Given the description of an element on the screen output the (x, y) to click on. 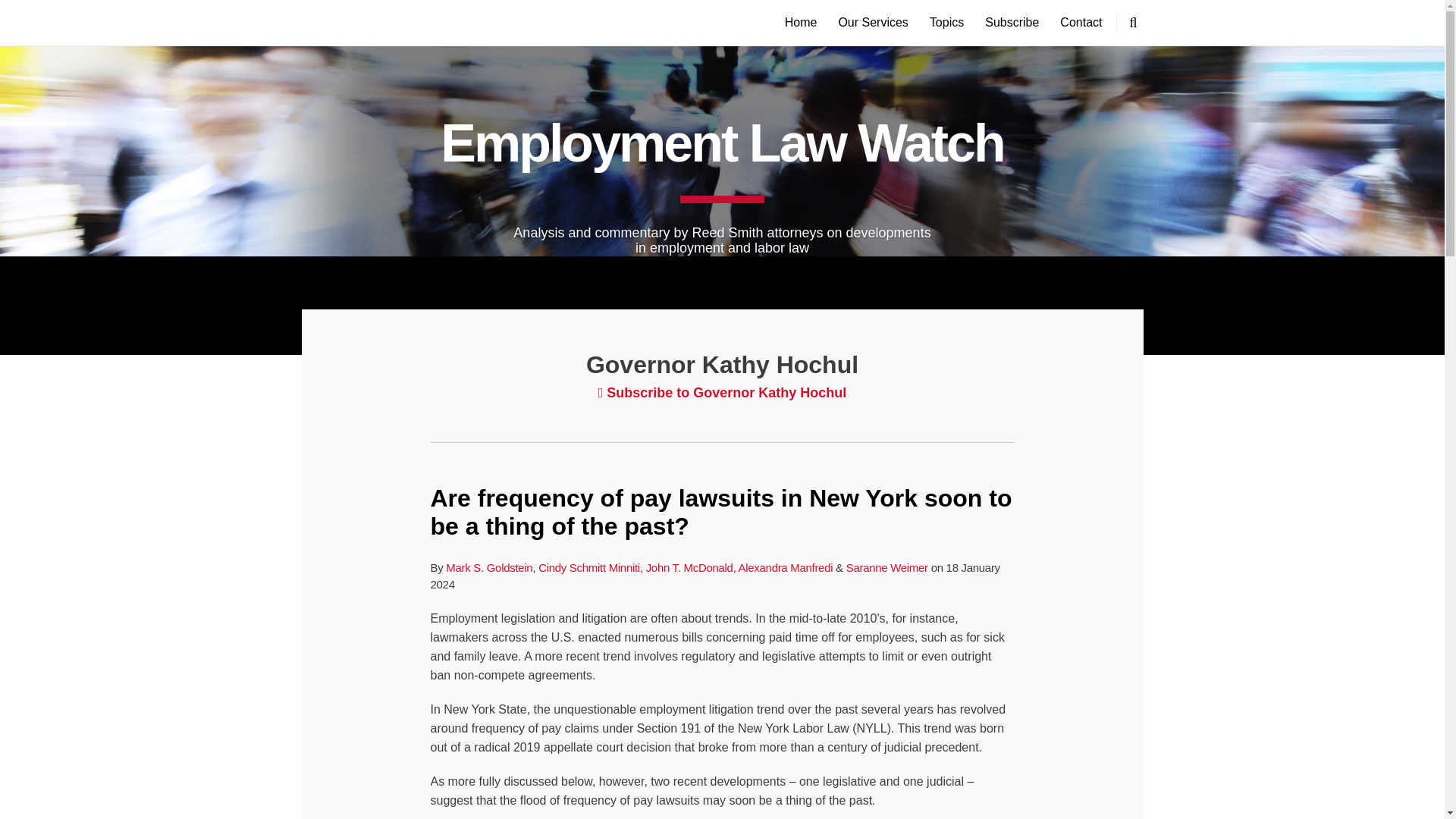
Home (800, 22)
Subscribe (1012, 22)
Subscribe to Governor Kathy Hochul (722, 392)
Contact (1080, 22)
Our Services (872, 22)
Topics (946, 22)
Cindy Schmitt Minniti (589, 567)
Mark S. Goldstein (488, 567)
Employment Law Watch (722, 142)
John T. McDonald (689, 567)
Saranne Weimer (886, 567)
Alexandra Manfredi (785, 567)
